Given the description of an element on the screen output the (x, y) to click on. 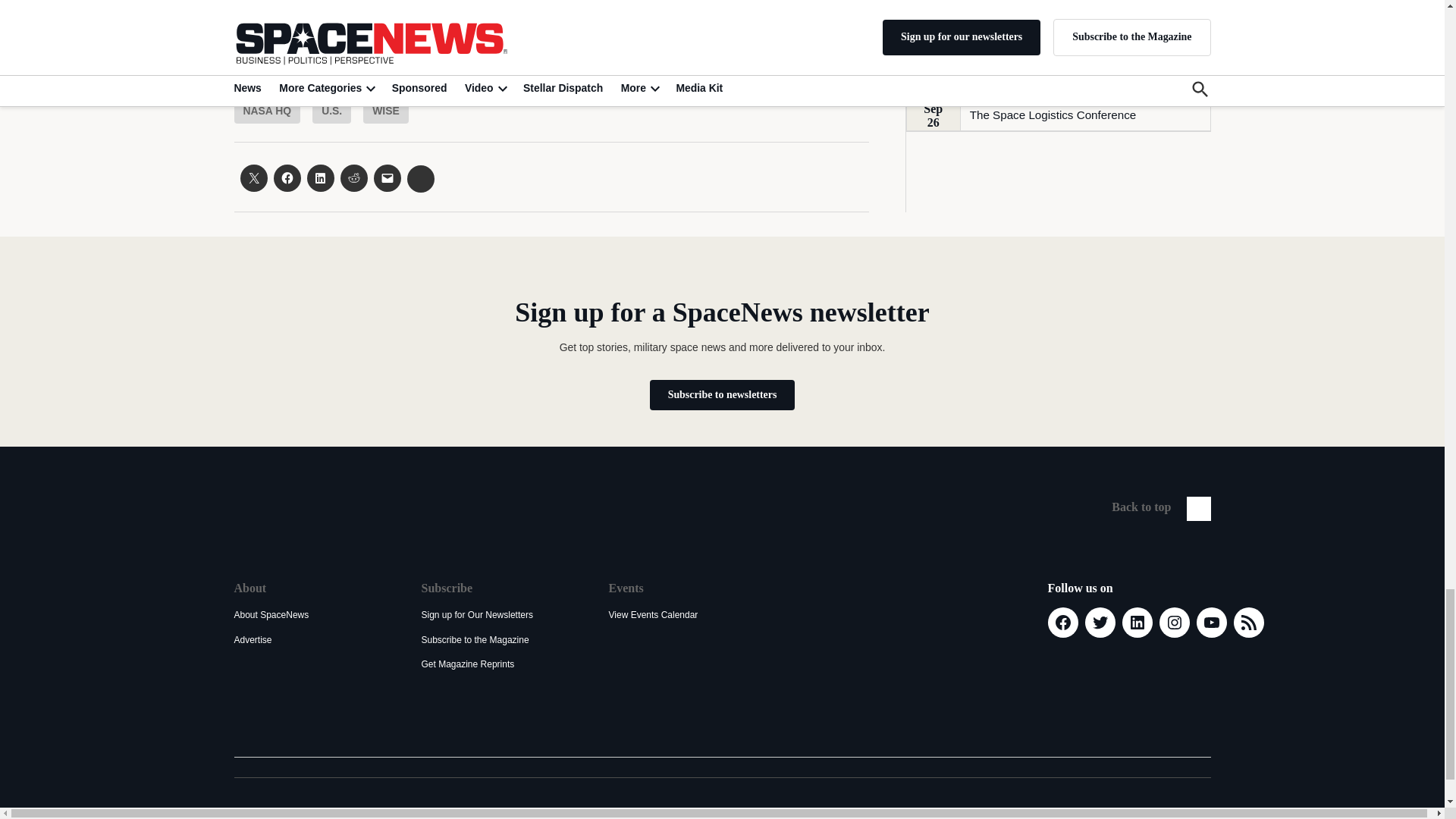
Click to share on Clipboard (419, 178)
Click to email a link to a friend (386, 177)
Click to share on LinkedIn (319, 177)
Click to share on Facebook (286, 177)
Click to share on Reddit (352, 177)
Click to share on X (253, 177)
